Given the description of an element on the screen output the (x, y) to click on. 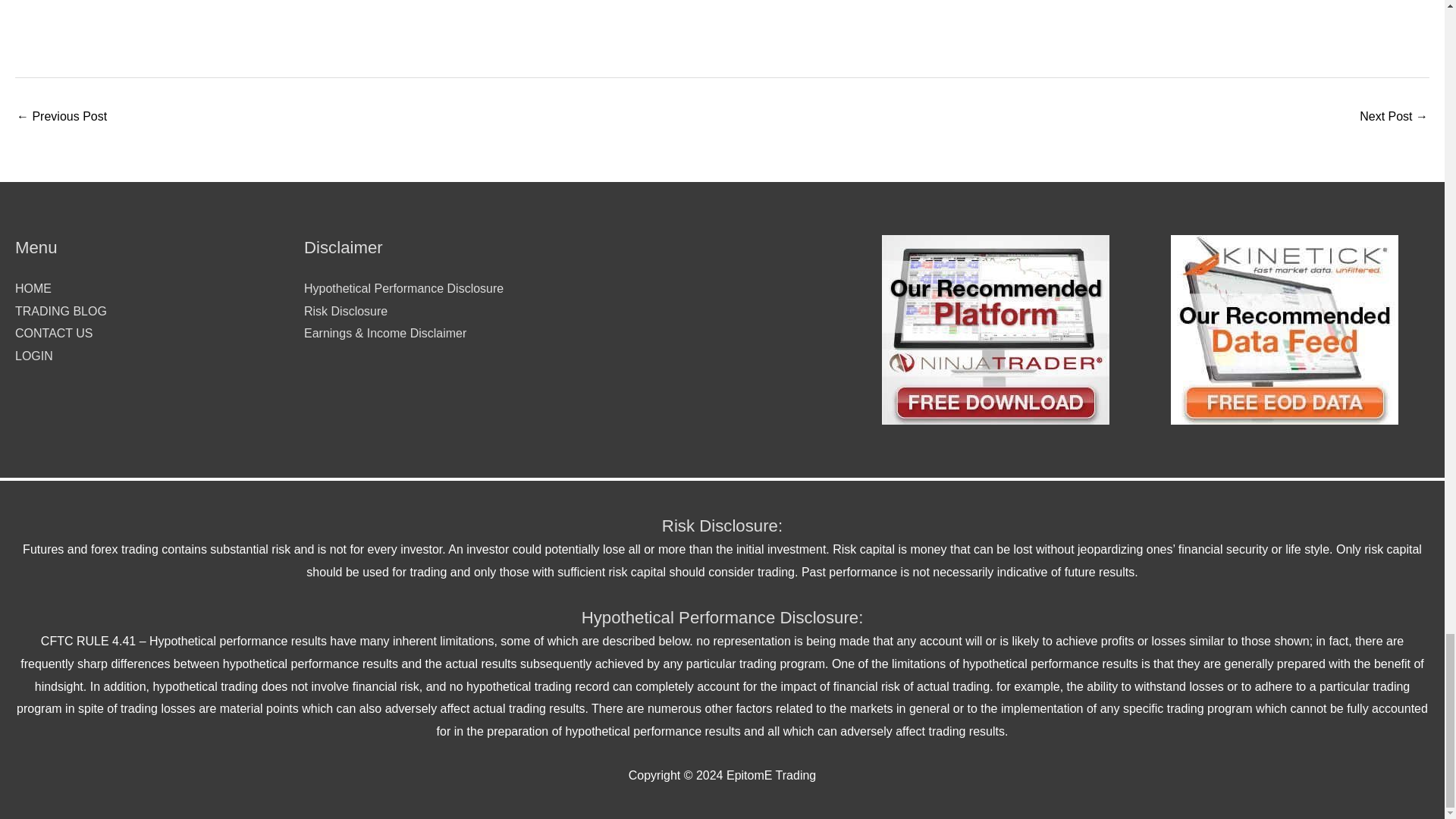
HOME (32, 287)
CONTACT US (53, 332)
Hypothetical Performance Disclosure (403, 287)
Risk Disclosure (345, 310)
Is It Possible To Make Money Trading Against The Trend? (1393, 117)
LOGIN (33, 355)
TRADING BLOG (60, 310)
Let's talk about divergence! (61, 117)
